Given the description of an element on the screen output the (x, y) to click on. 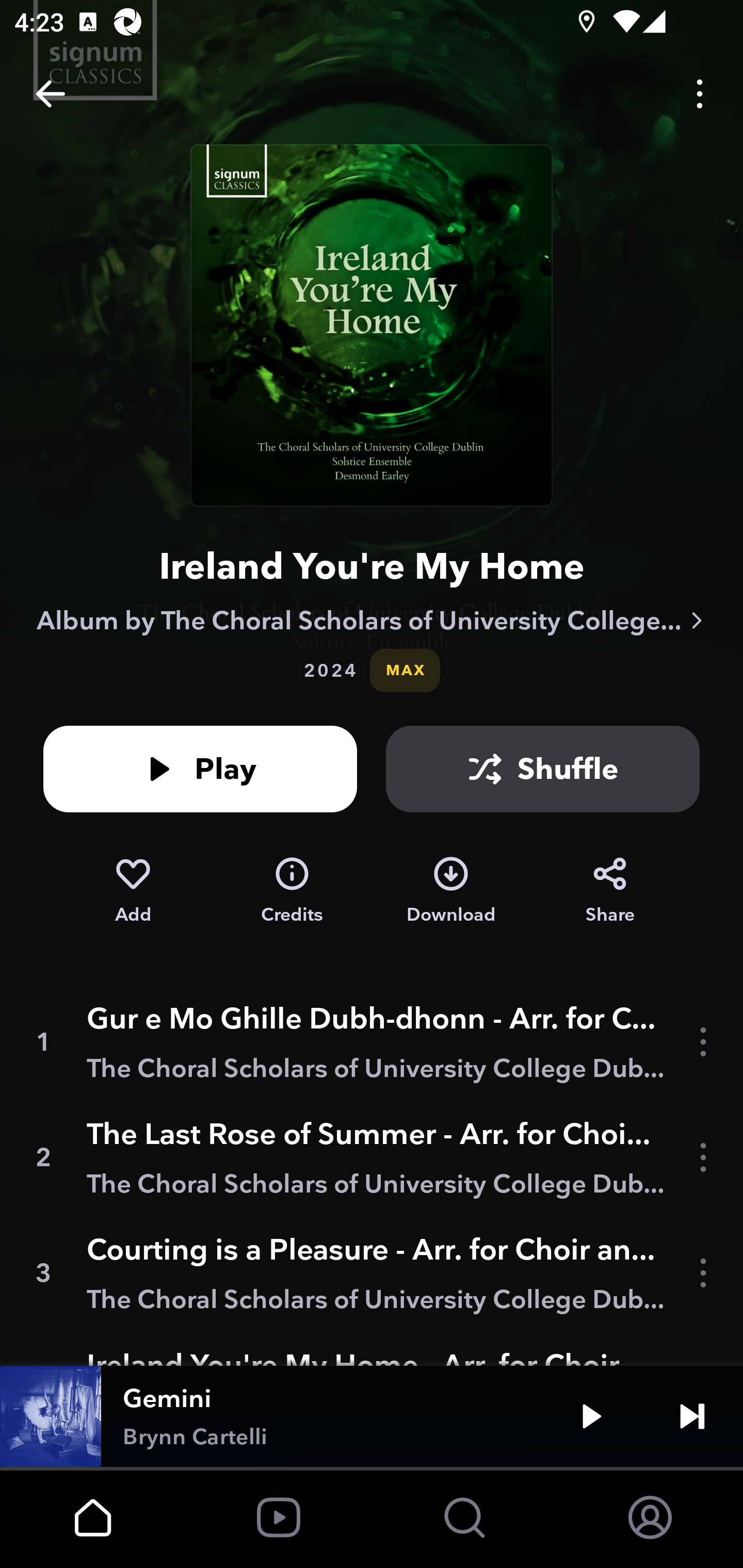
Options (699, 93)
Ireland You're My Home (371, 565)
Play (200, 768)
Shuffle (542, 768)
Add to My Collection Add (132, 890)
Credits (291, 890)
Download (450, 890)
Share (609, 890)
Gemini Brynn Cartelli Play (371, 1416)
Play (590, 1416)
